Given the description of an element on the screen output the (x, y) to click on. 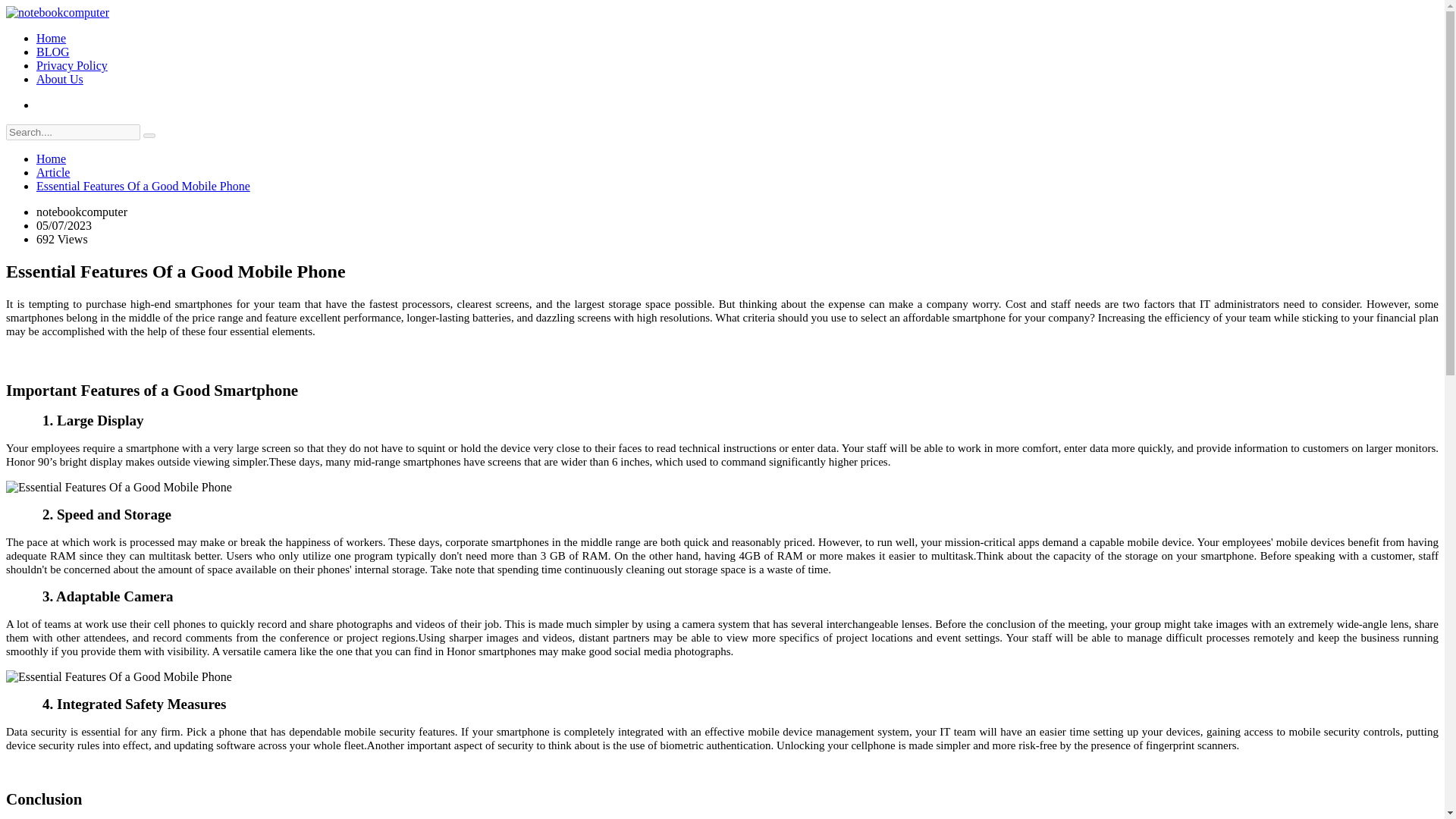
BLOG (52, 51)
Home (50, 158)
Privacy Policy (71, 65)
Essential Features Of a Good Mobile Phone (118, 676)
About Us (59, 78)
About Us (59, 78)
BLOG (52, 51)
notebookcomputer (57, 12)
Home (50, 38)
Essential Features Of a Good Mobile Phone (118, 487)
Privacy Policy (71, 65)
Article (52, 172)
Essential Features Of a Good Mobile Phone (143, 185)
